Given the description of an element on the screen output the (x, y) to click on. 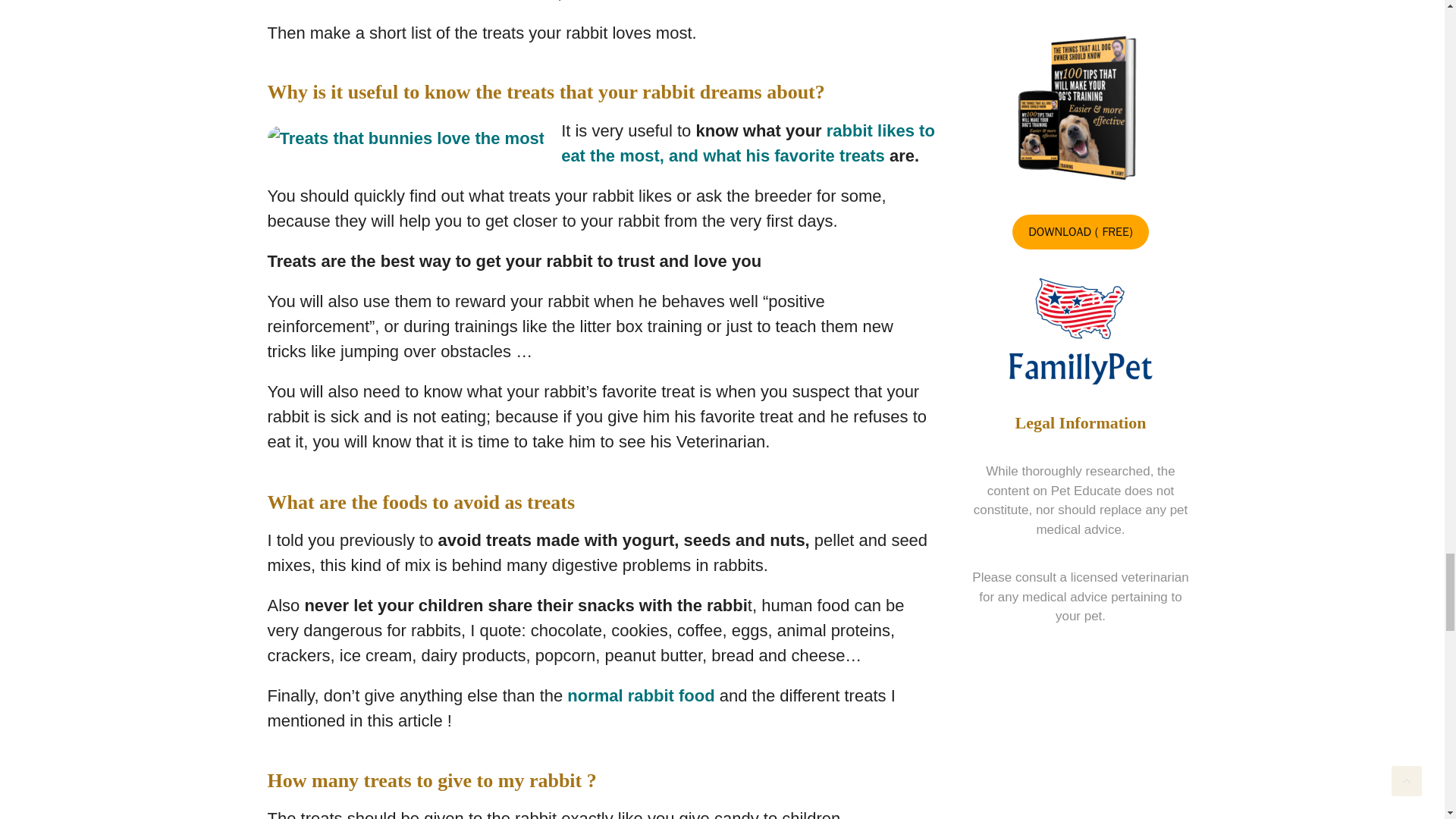
What are Rabbits Favorite Treats ? 5 (405, 138)
